Given the description of an element on the screen output the (x, y) to click on. 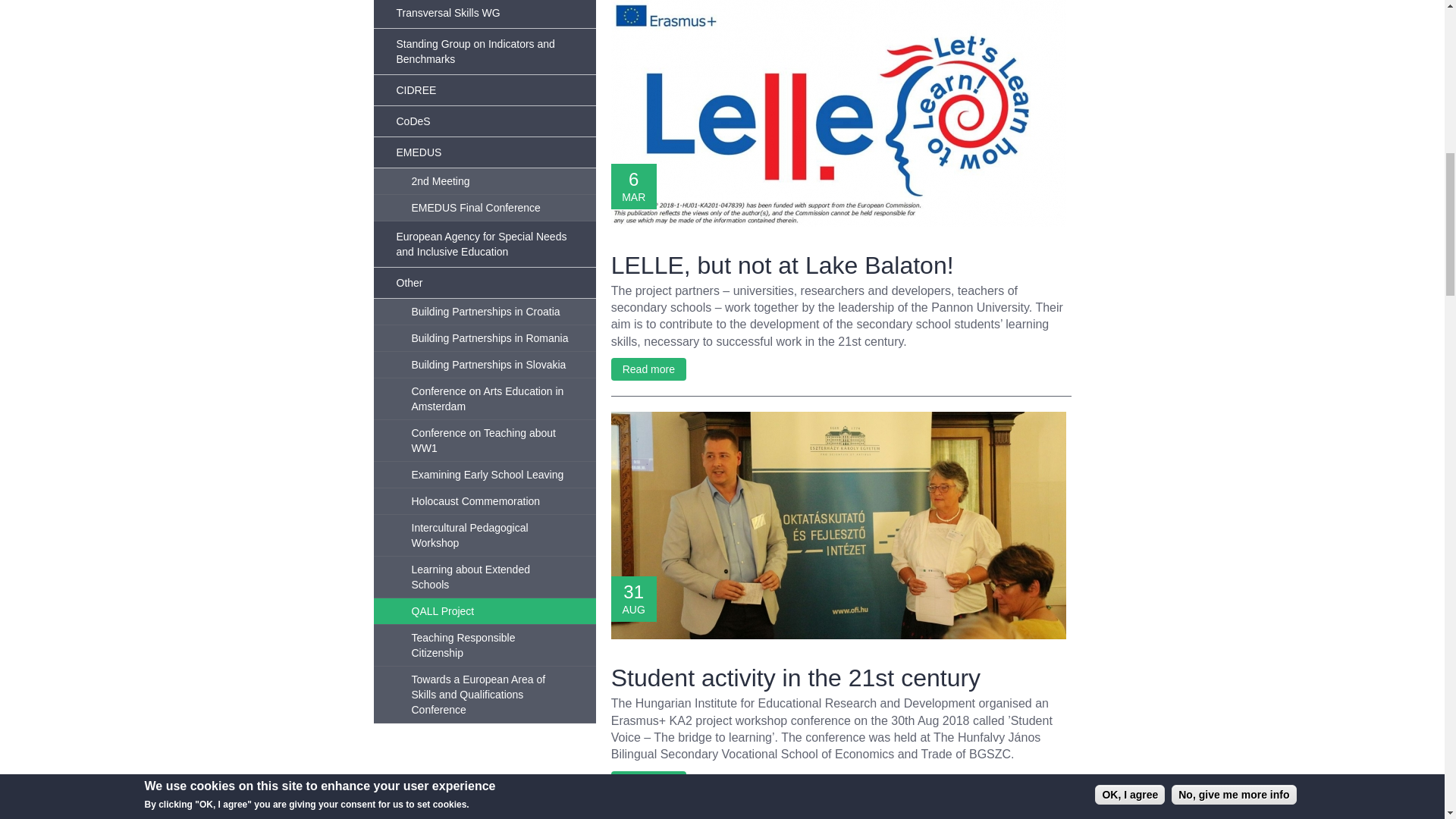
Conference on Arts Education in Amsterdam (483, 399)
European Agency for Special Needs and Inclusive Education (483, 244)
Building Partnerships in Slovakia (483, 365)
Building Partnerships in Croatia (483, 311)
Conference on Teaching about WW1 (483, 440)
2nd Meeting (483, 181)
CIDREE (483, 90)
QALL Project (483, 611)
Learning about Extended Schools (483, 577)
CoDeS (483, 121)
Holocaust Commemoration (483, 501)
Other (483, 282)
Intercultural Pedagogical Workshop (483, 535)
Building Partnerships in Romania (483, 338)
Examining Early School Leaving (483, 474)
